Given the description of an element on the screen output the (x, y) to click on. 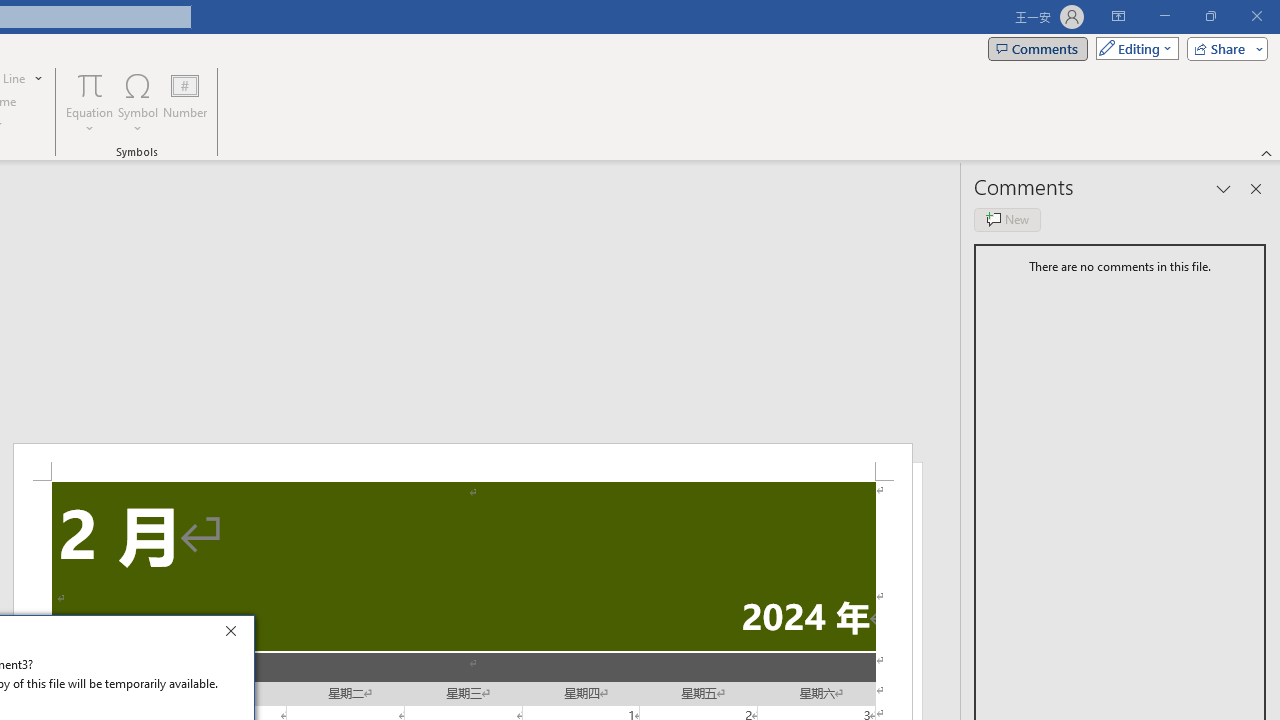
Equation (90, 102)
Symbol (138, 102)
Mode (1133, 47)
